Given the description of an element on the screen output the (x, y) to click on. 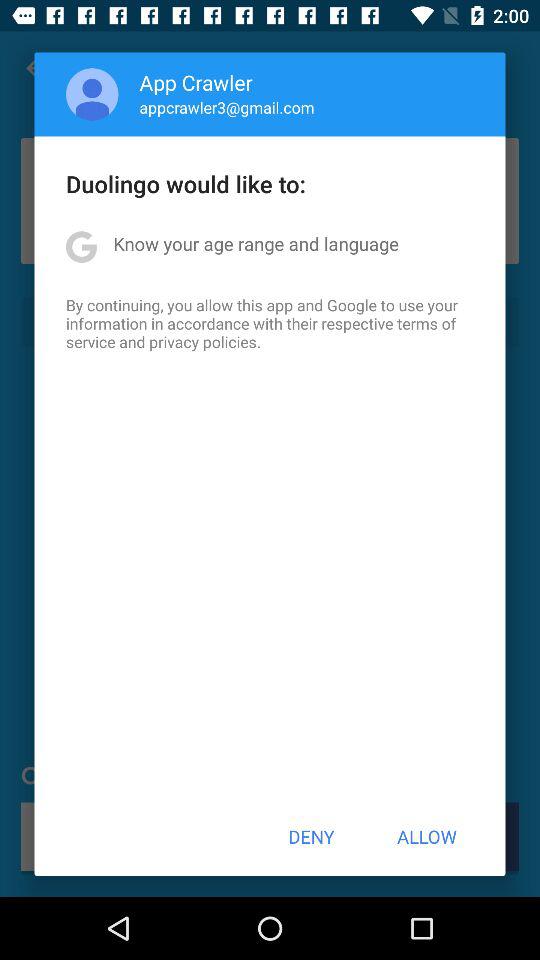
flip to appcrawler3@gmail.com app (226, 107)
